Given the description of an element on the screen output the (x, y) to click on. 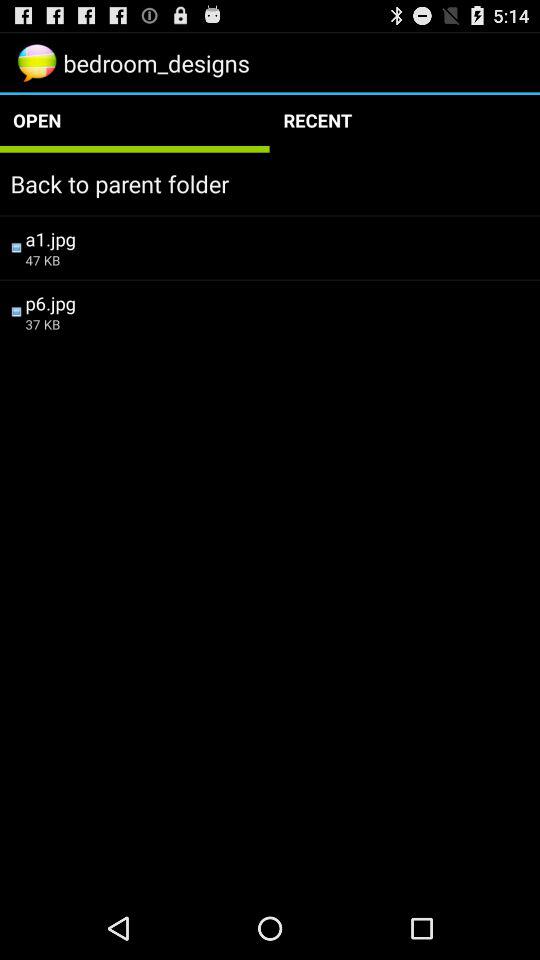
press the 47 kb item (277, 259)
